Given the description of an element on the screen output the (x, y) to click on. 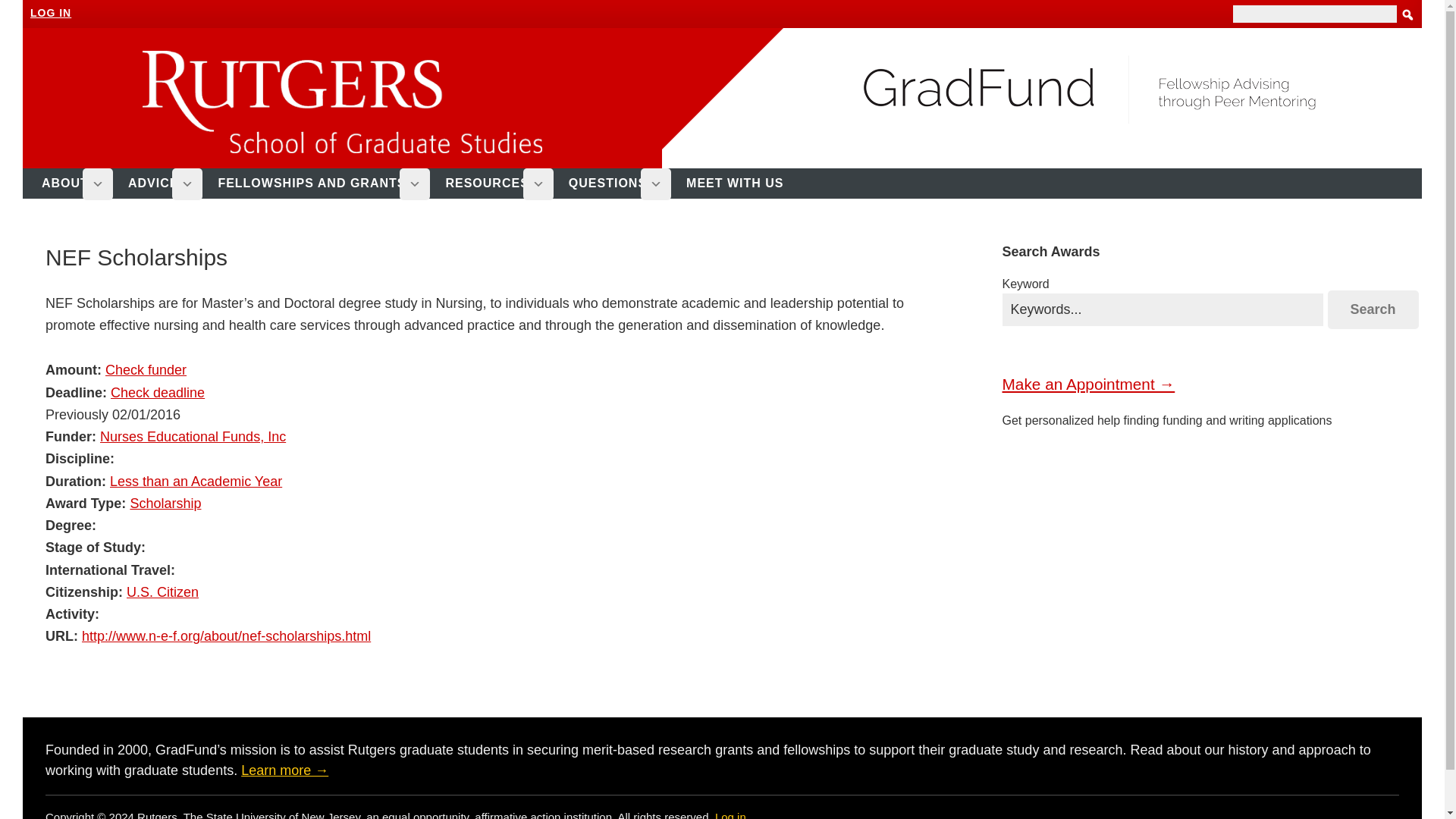
Scholarship (164, 503)
Check deadline (157, 392)
Submenu (655, 183)
ABOUT (71, 183)
Submenu (537, 183)
Check funder (145, 369)
Less than an Academic Year (196, 481)
QUESTIONS (614, 183)
ADVICE (159, 183)
